Given the description of an element on the screen output the (x, y) to click on. 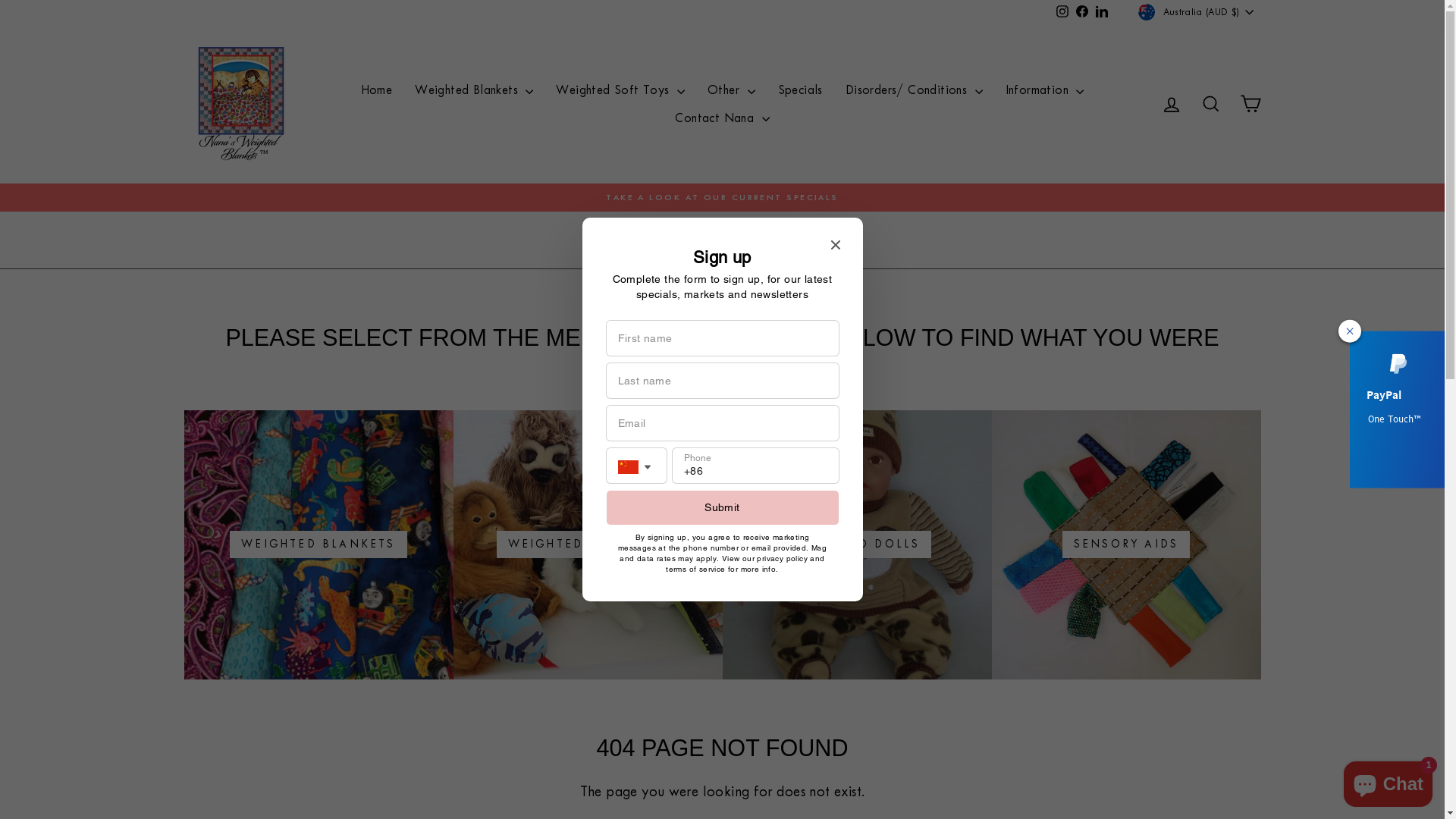
WEIGHTED DOLLS Element type: text (856, 544)
icon-search
Search Element type: text (1210, 103)
LinkedIn Element type: text (1101, 12)
Australia (AUD $) Element type: text (1197, 12)
Shopify online store chat Element type: hover (1388, 780)
CATCH UP WITH US AT OUR STALL AT THE MARKETS Element type: text (722, 197)
SENSORY AIDS Element type: text (1126, 544)
account
Log in Element type: text (1170, 103)
Specials Element type: text (799, 90)
WEIGHTED BLANKETS Element type: text (317, 544)
Cart Element type: text (1249, 103)
instagram
Instagram Element type: text (1062, 12)
WEIGHTED SOFT TOYS Element type: text (587, 544)
Home Element type: text (376, 90)
Facebook Element type: text (1082, 12)
